Given the description of an element on the screen output the (x, y) to click on. 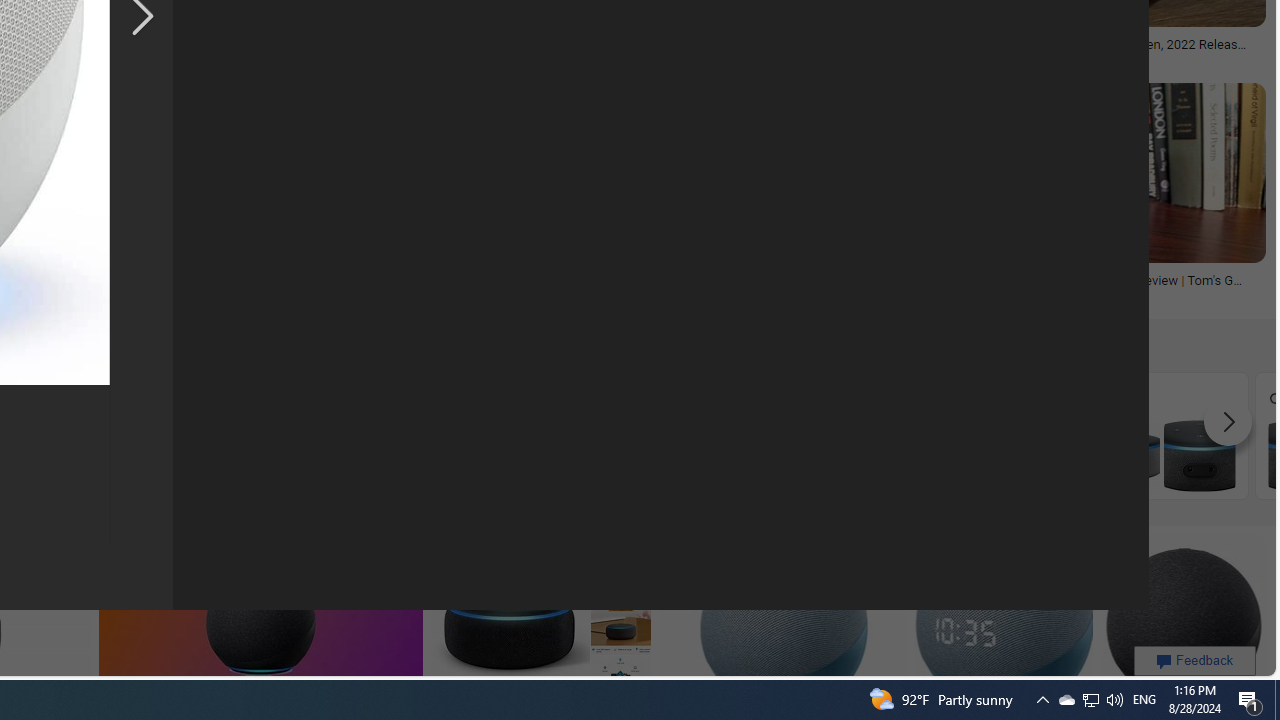
Amazon Echo Dot Icon Icon (262, 435)
4th Gen Smart Speaker Alexa (621, 435)
geizhals.de (152, 294)
Tom's Guide (1024, 294)
Amazon Echo Dot Sales Chart Sales Chart (981, 435)
Free Amazon Echo Dot Free (1162, 435)
